Given the description of an element on the screen output the (x, y) to click on. 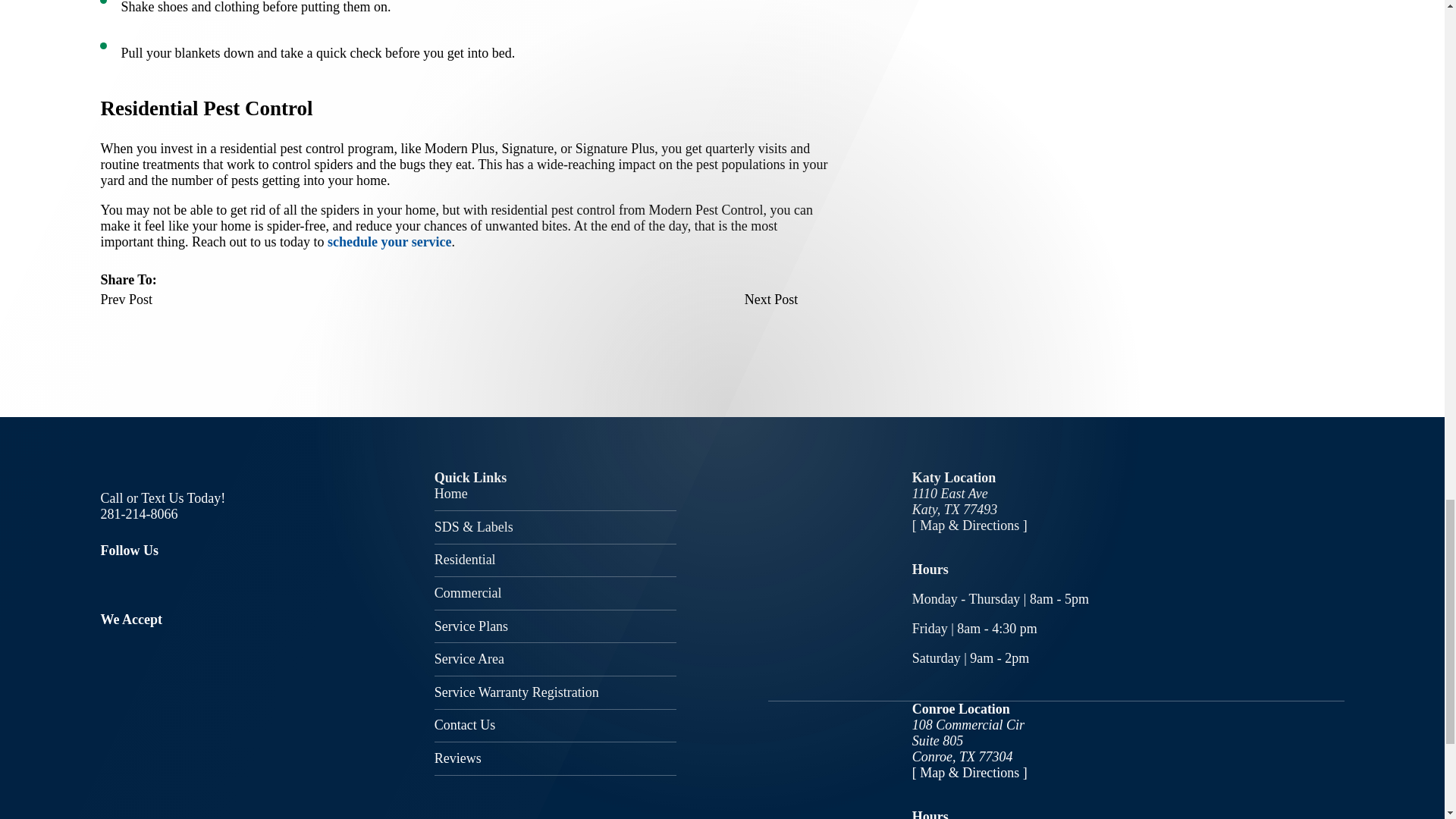
Facebook (109, 581)
Twitter (157, 581)
Nextdoor (250, 581)
Visa (106, 634)
Google Business Profile (204, 581)
